Given the description of an element on the screen output the (x, y) to click on. 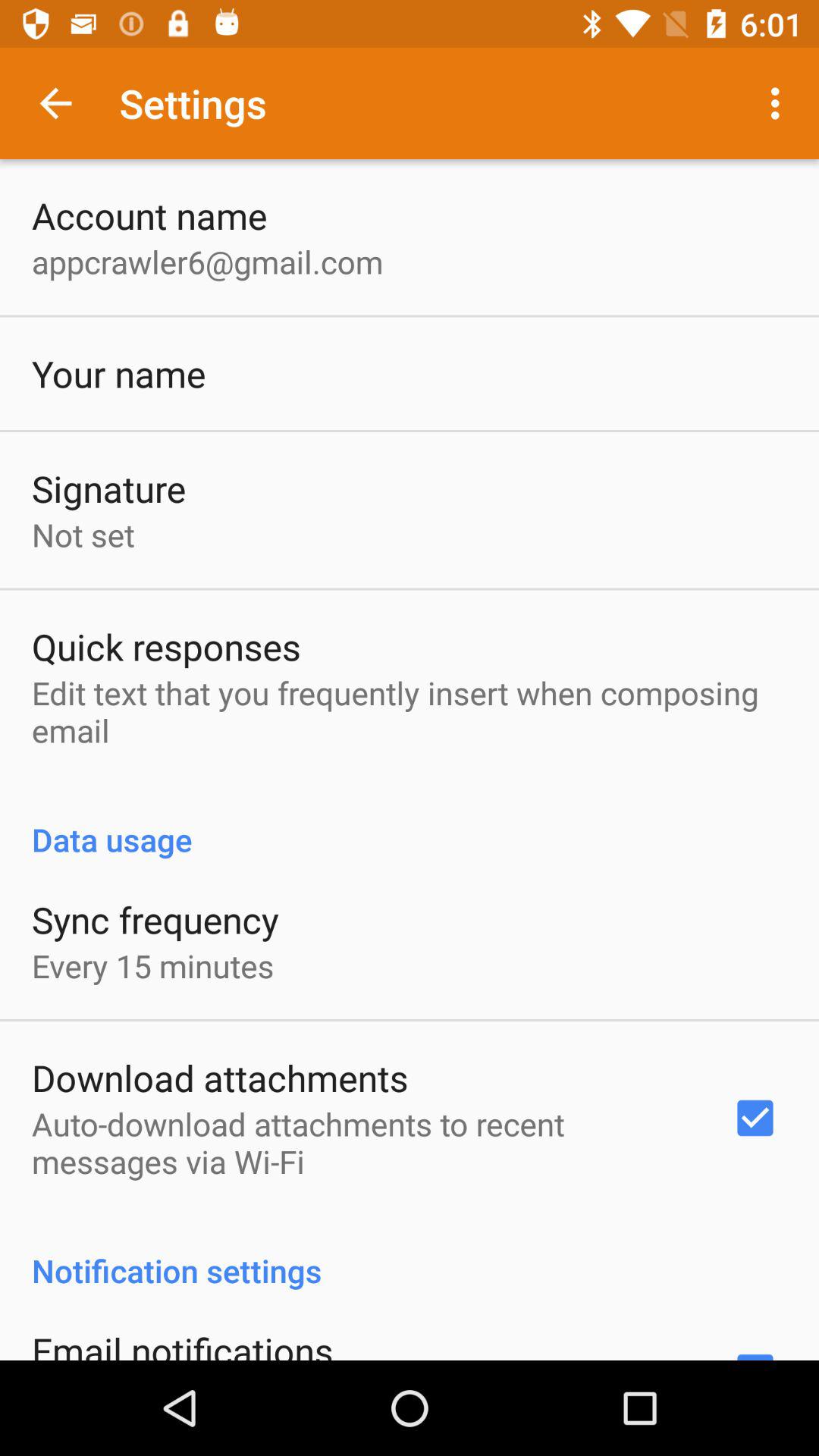
turn on the app above the quick responses app (82, 534)
